Given the description of an element on the screen output the (x, y) to click on. 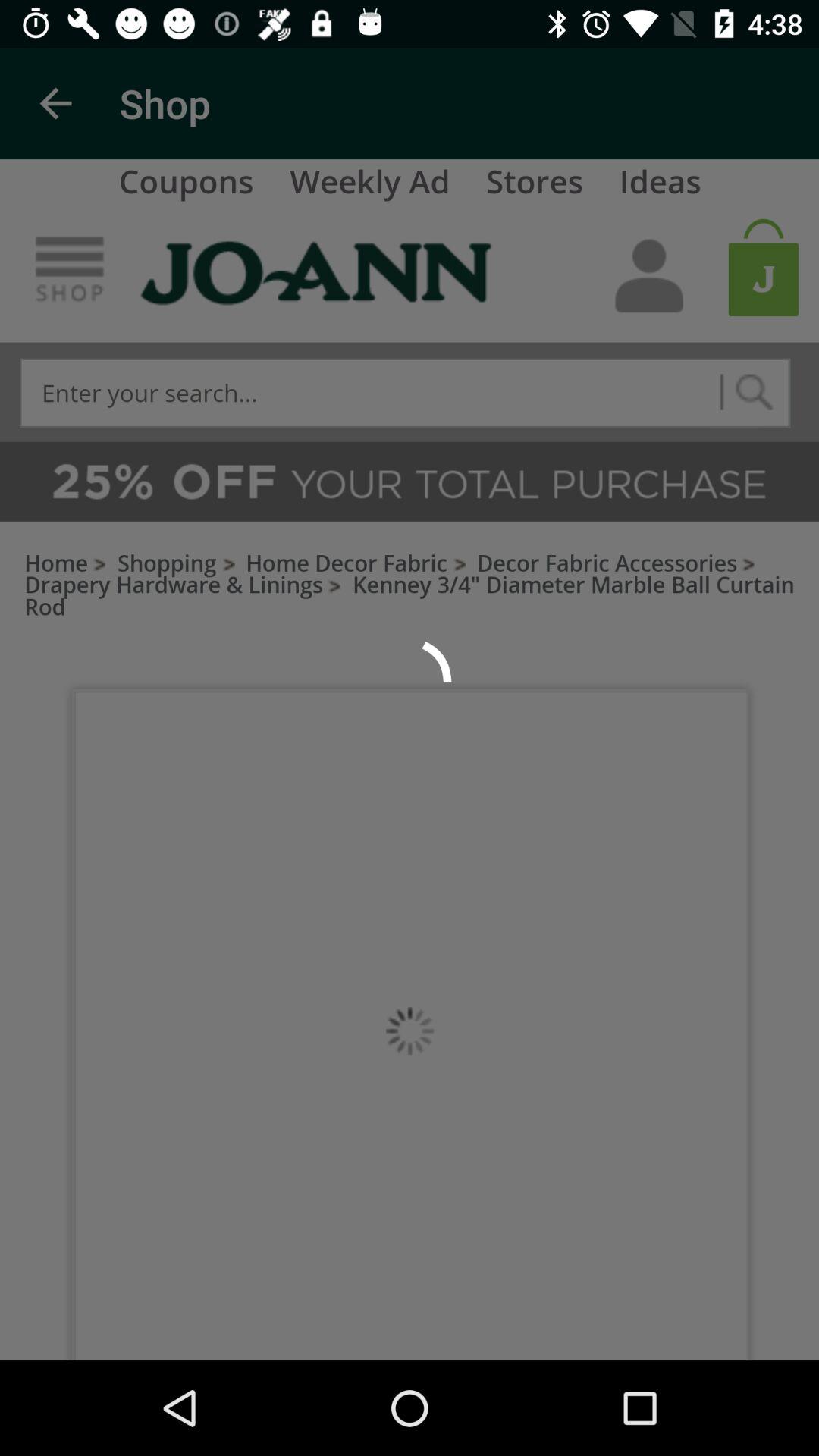
switch to previous page (55, 103)
